Given the description of an element on the screen output the (x, y) to click on. 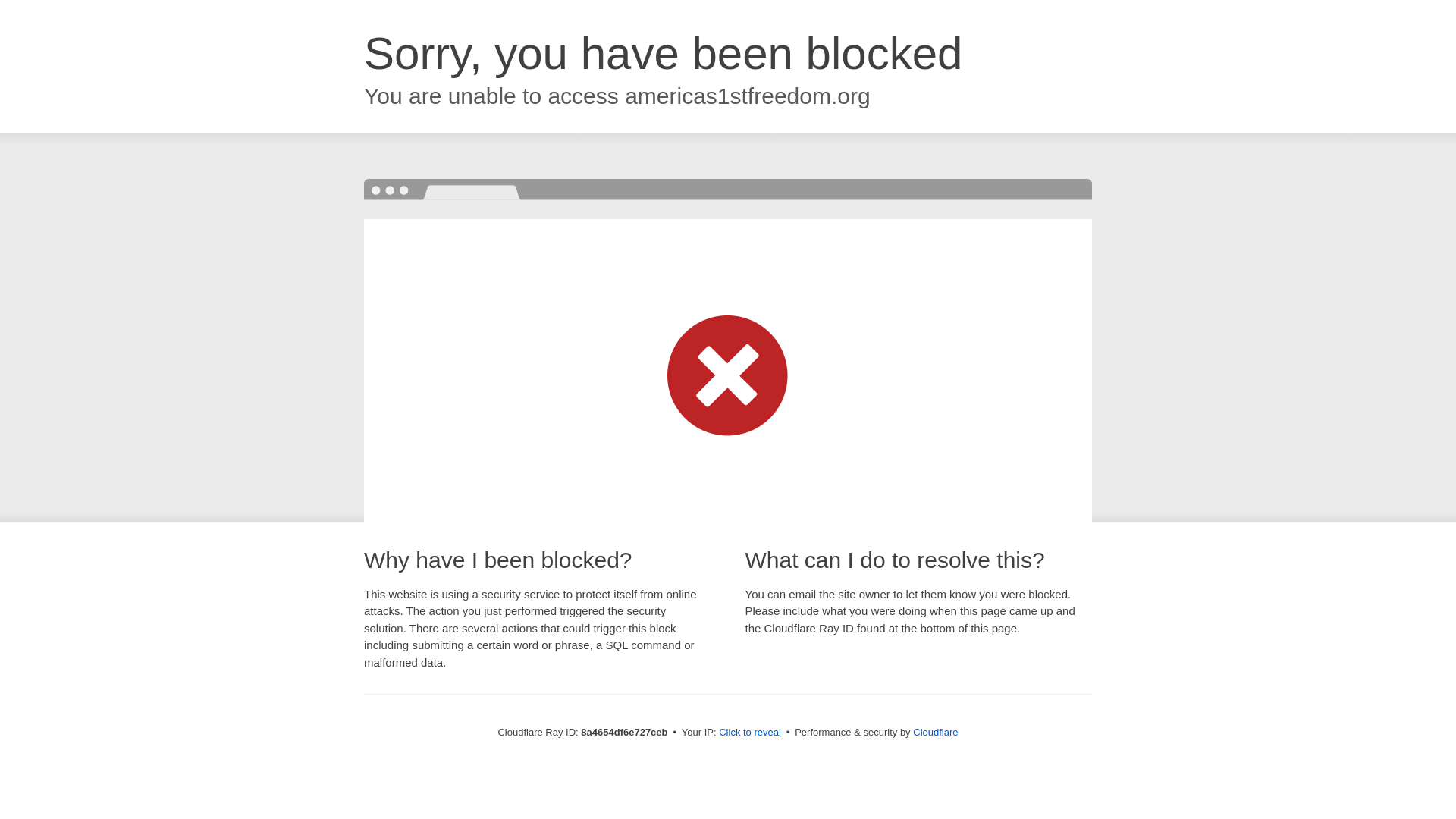
Click to reveal (749, 732)
Cloudflare (935, 731)
